Given the description of an element on the screen output the (x, y) to click on. 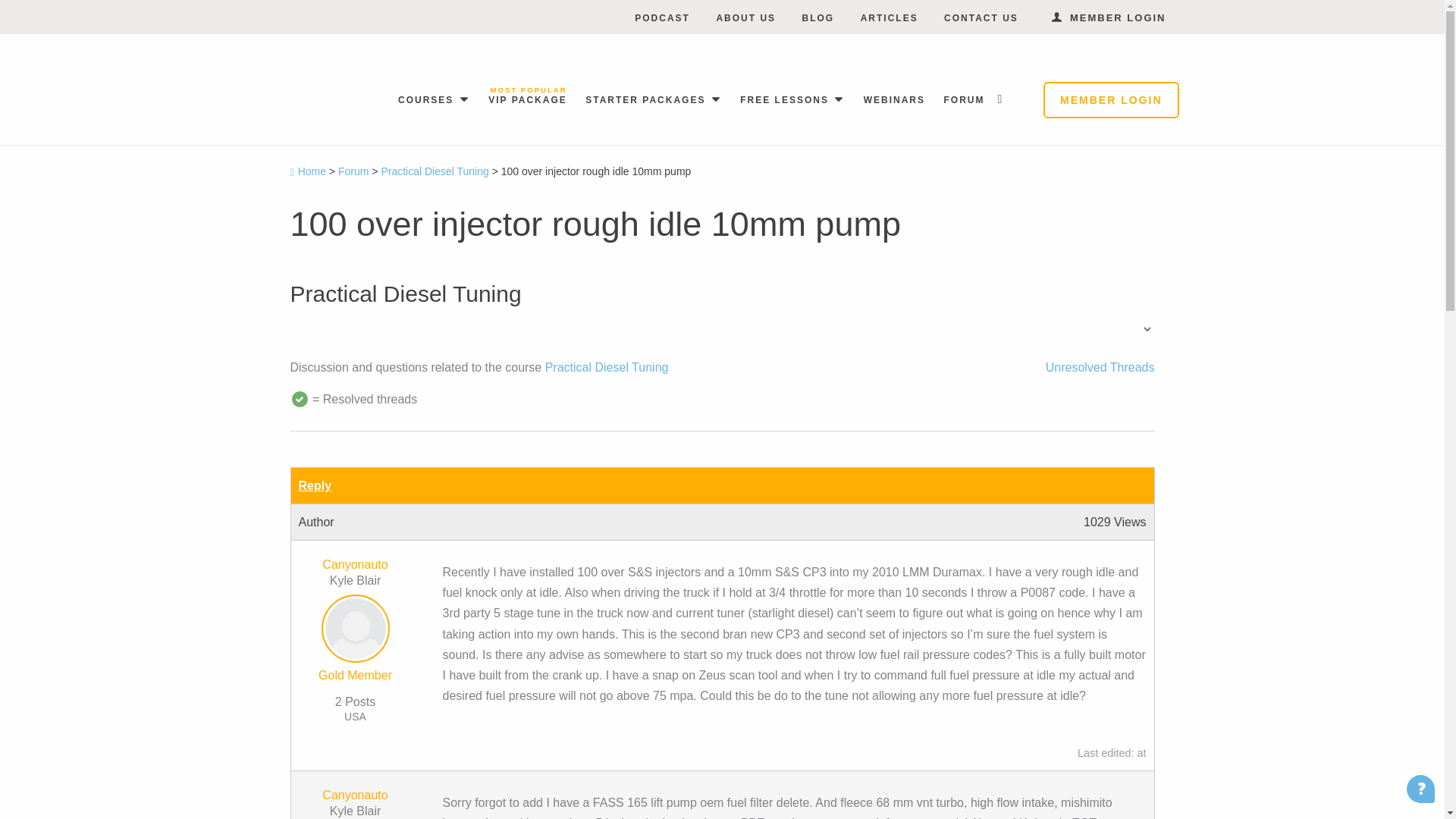
STARTER PACKAGES (647, 98)
FREE LESSONS (785, 98)
Click here to view Canyonauto (354, 563)
Click here to reply to this topic (314, 485)
MEMBER LOGIN (1108, 17)
BLOG (818, 18)
HIGH PERFORMANCE ACADEMY (359, 92)
MEMBER LOGIN (1110, 99)
Click here to view Canyonauto (354, 794)
